Given the description of an element on the screen output the (x, y) to click on. 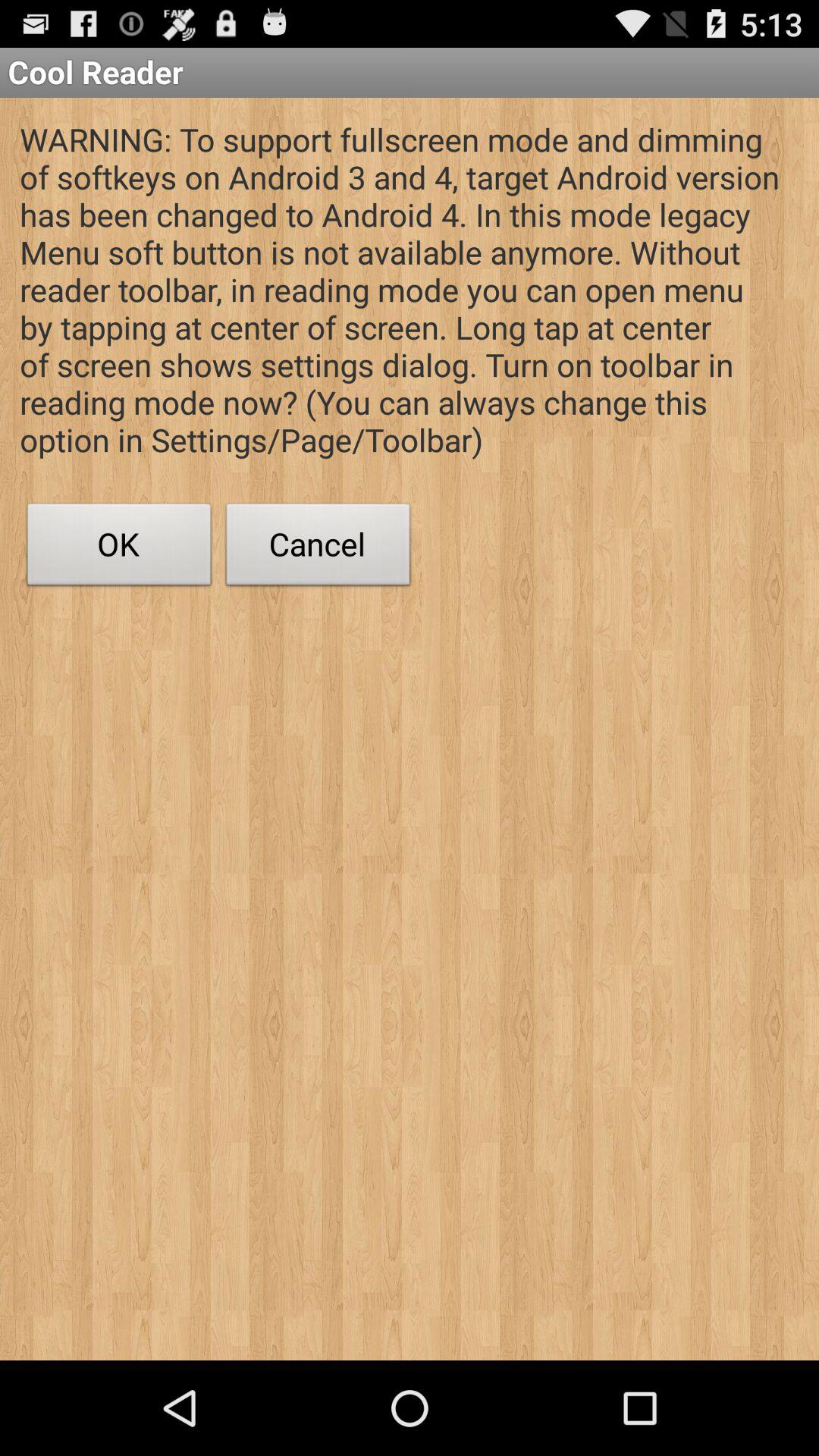
launch button to the right of ok button (318, 548)
